Given the description of an element on the screen output the (x, y) to click on. 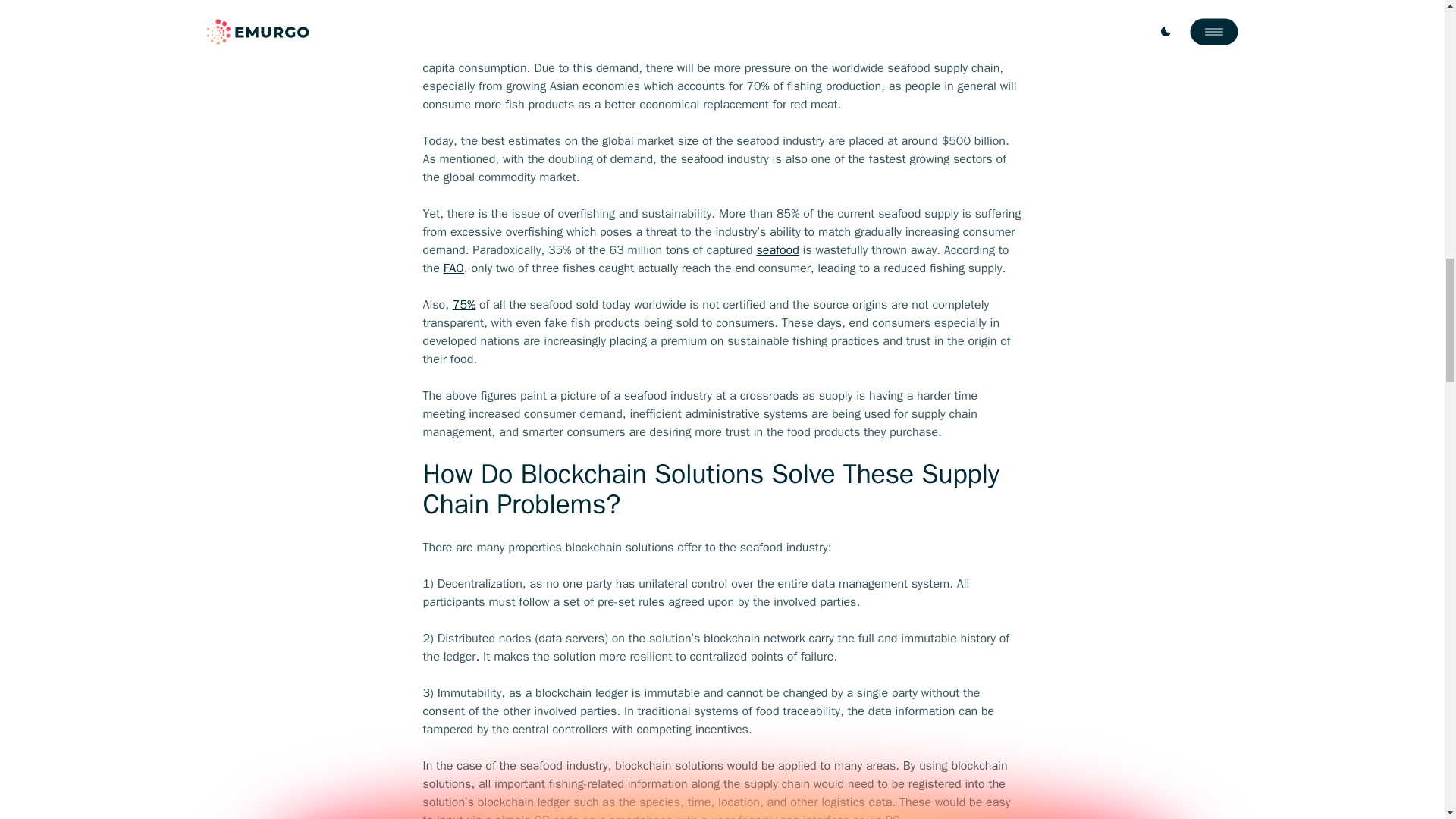
FAO (454, 268)
double (778, 49)
seafood (778, 249)
